Given the description of an element on the screen output the (x, y) to click on. 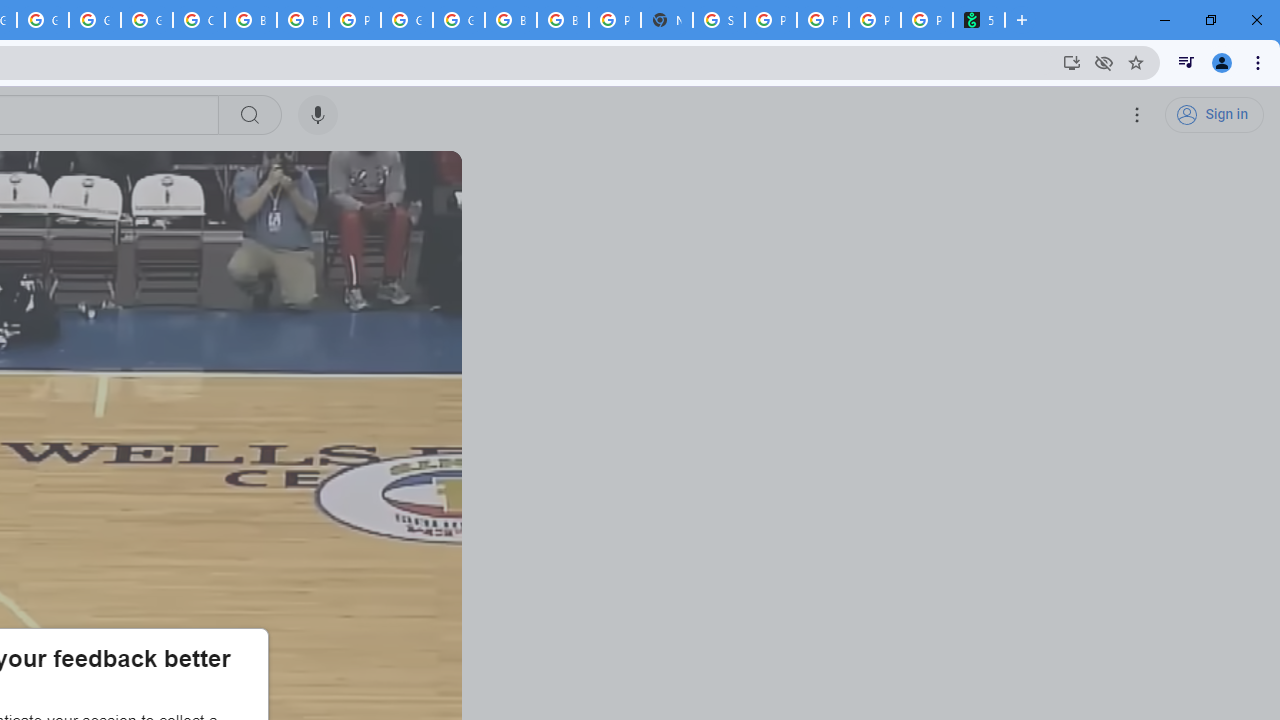
Install YouTube (1071, 62)
